Given the description of an element on the screen output the (x, y) to click on. 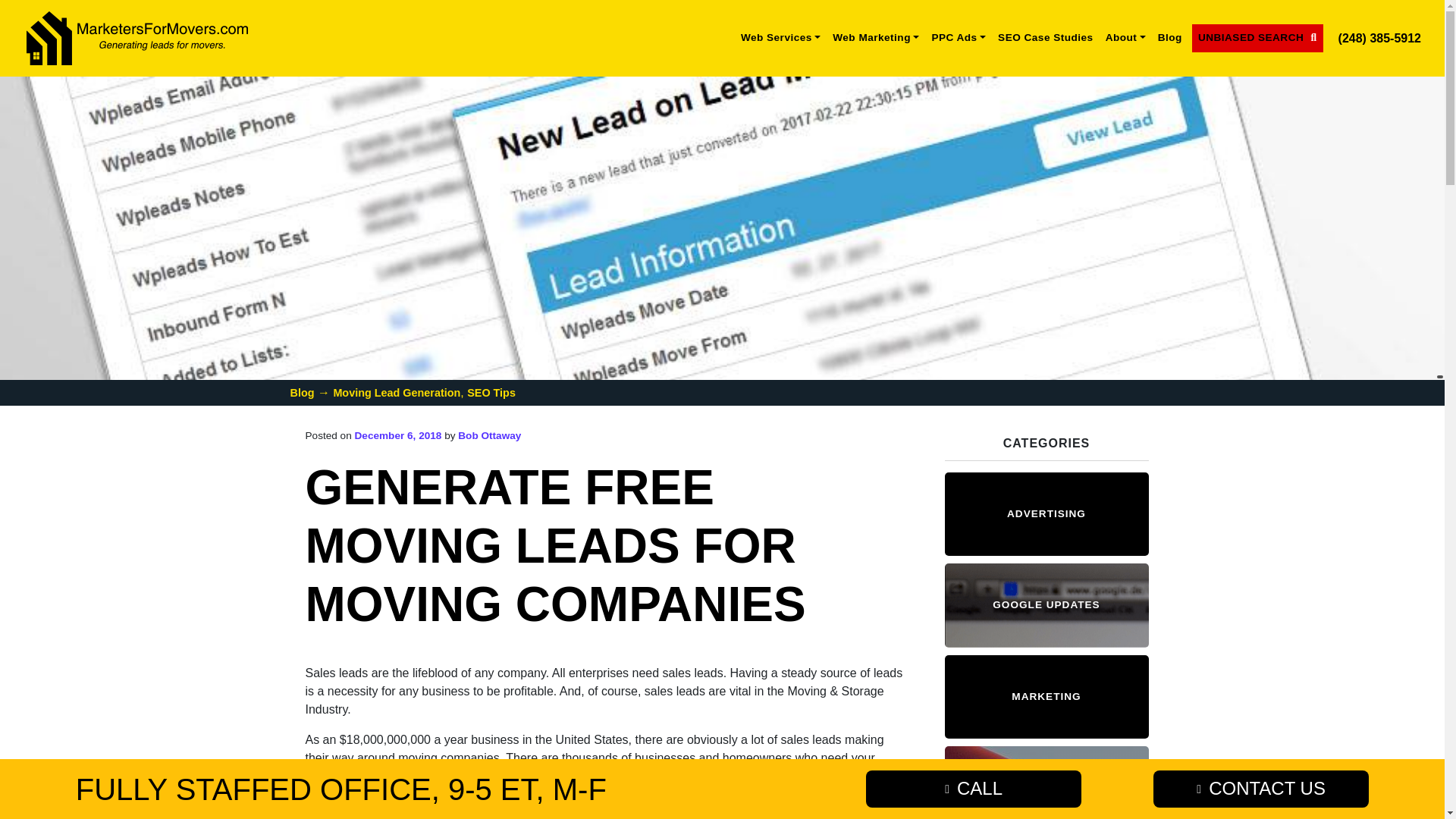
Blog (301, 392)
SEO Tips (491, 392)
Blog (1169, 37)
PPC Ads (957, 37)
Bob Ottaway (488, 435)
UNBIASED SEARCH (1257, 37)
ADVERTISING (1046, 513)
Web Marketing (875, 37)
Web Marketing (875, 37)
Web Services (781, 37)
SEO Case Studies (1045, 37)
December 6, 2018 (398, 435)
About (1125, 37)
PPC Ads (957, 37)
Web Services (781, 37)
